Given the description of an element on the screen output the (x, y) to click on. 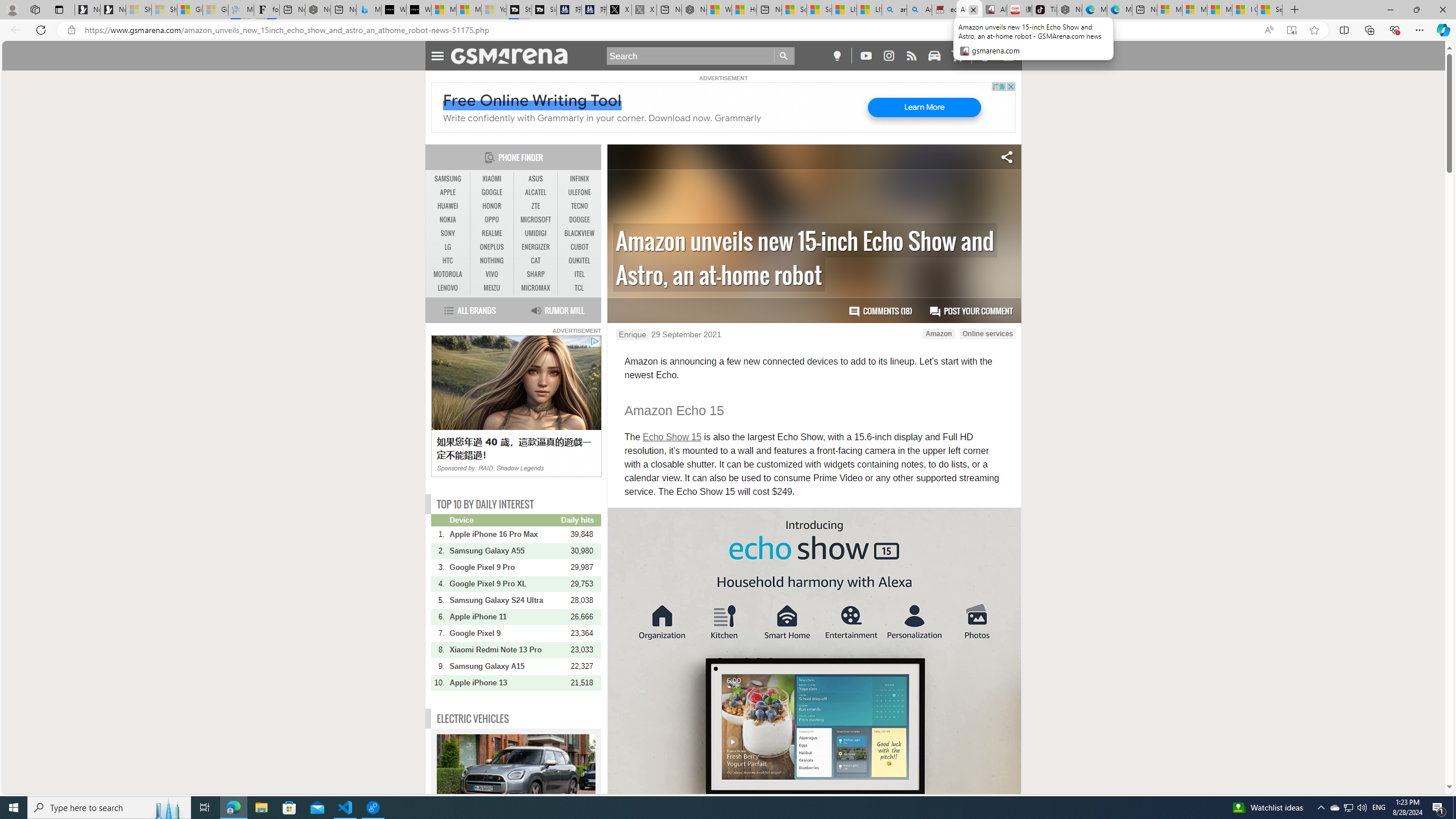
ONEPLUS (491, 246)
Apple iPhone 16 Pro Max (504, 534)
Google Pixel 9 (504, 633)
HUAWEI (448, 205)
ENERGIZER (535, 246)
NOTHING (491, 260)
DOOGEE (579, 219)
MEIZU (491, 287)
